Given the description of an element on the screen output the (x, y) to click on. 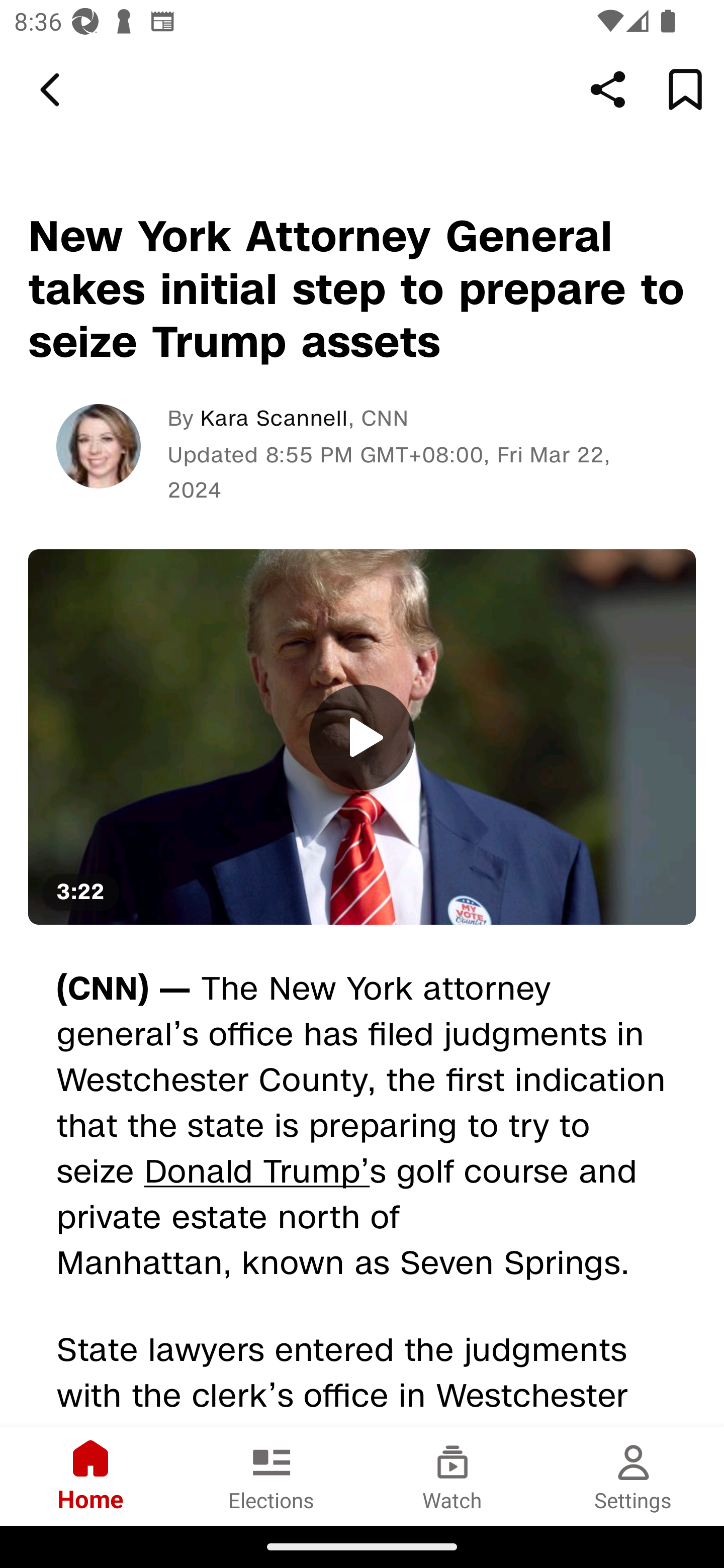
Back Button (52, 89)
Share (607, 89)
Bookmark (685, 89)
Elections (271, 1475)
Watch (452, 1475)
Settings (633, 1475)
